Given the description of an element on the screen output the (x, y) to click on. 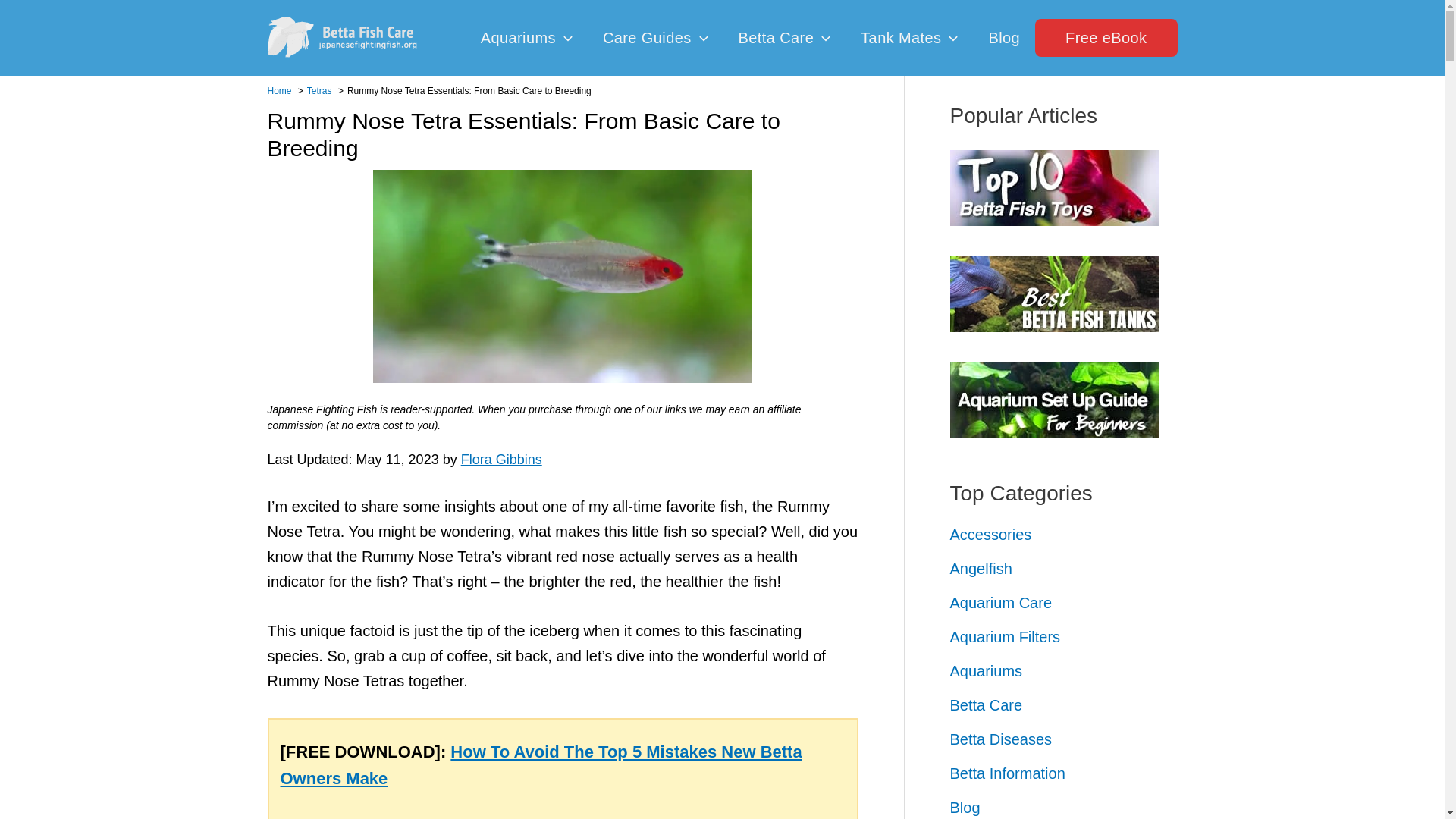
Free eBook (1105, 37)
Blog (1003, 37)
Aquariums (526, 37)
Care Guides (655, 37)
Tank Mates (908, 37)
Betta Care (784, 37)
